Given the description of an element on the screen output the (x, y) to click on. 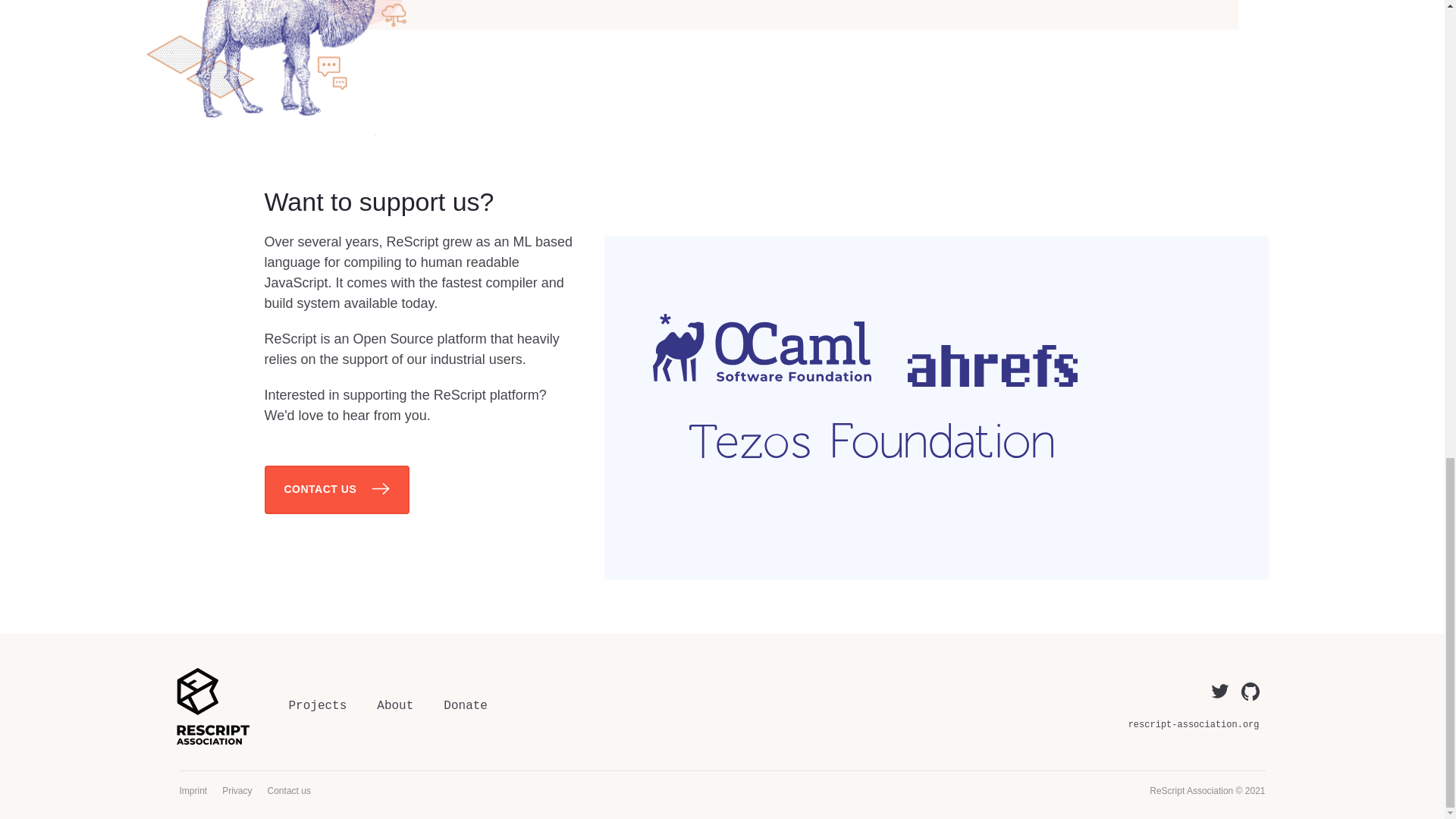
Projects (317, 705)
Privacy (236, 791)
Donate (465, 705)
About (395, 705)
CONTACT US (336, 490)
Imprint (192, 791)
Contact us (289, 791)
